Given the description of an element on the screen output the (x, y) to click on. 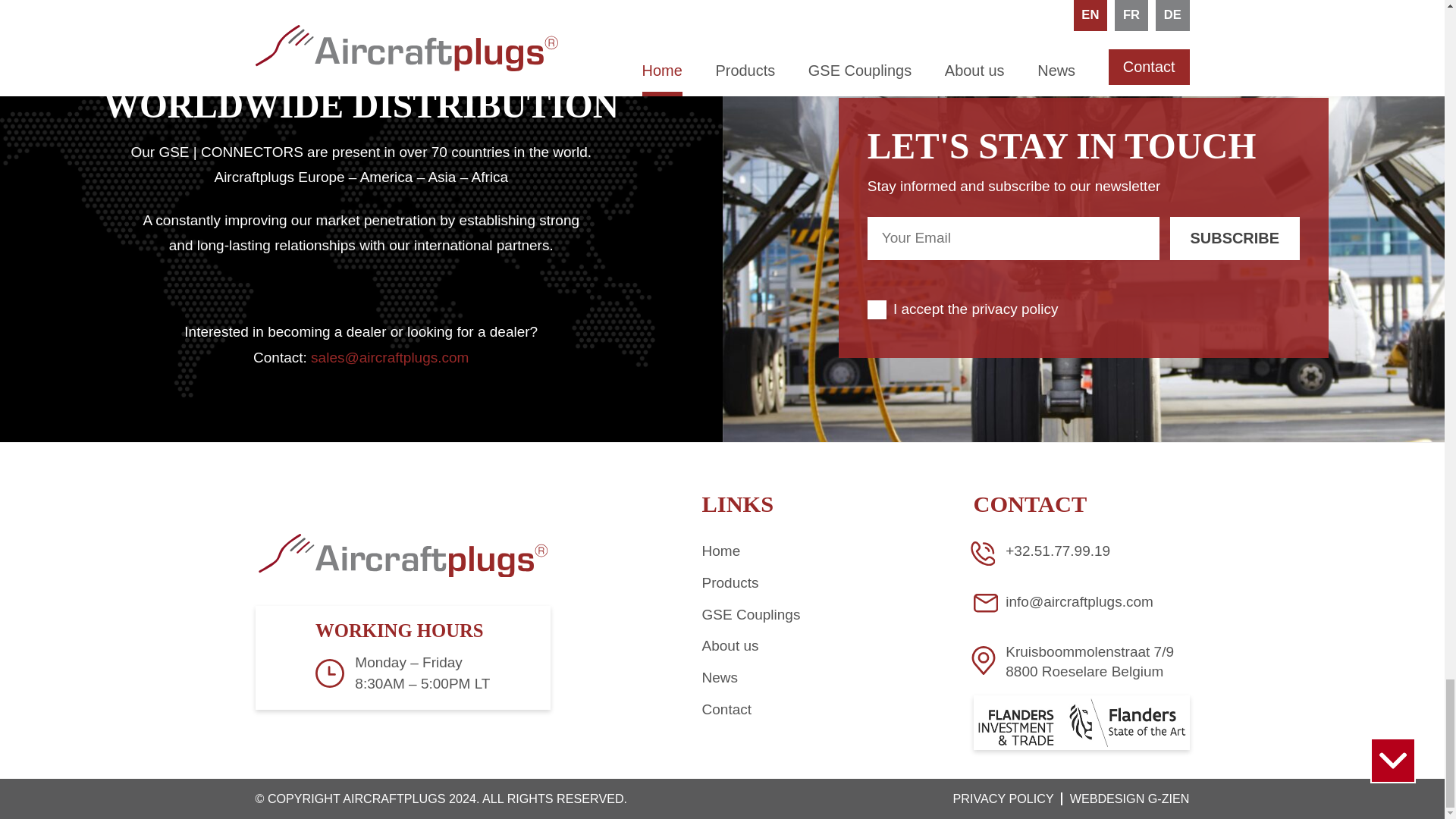
subscribe (1235, 238)
